Given the description of an element on the screen output the (x, y) to click on. 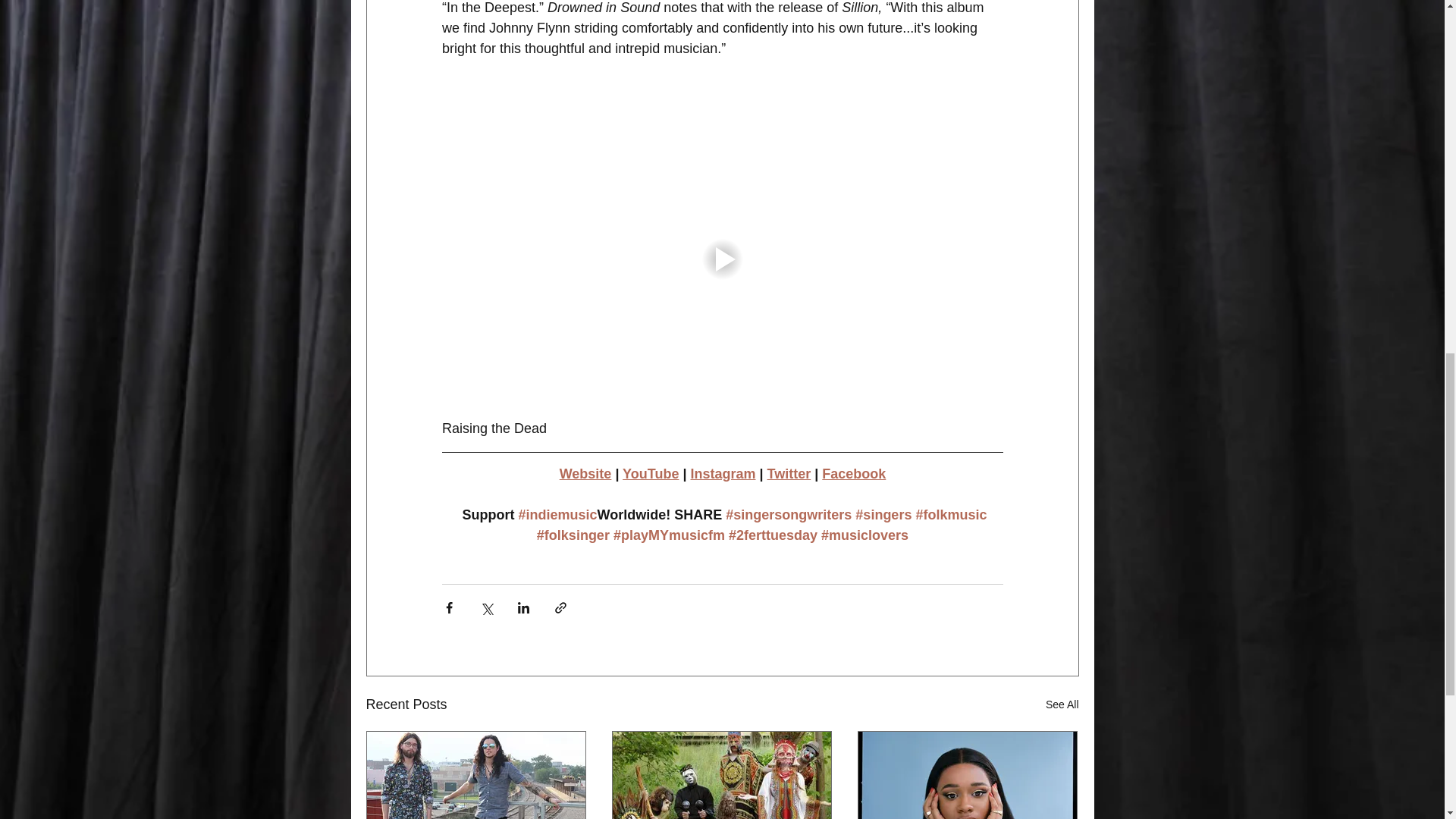
Twitter (788, 473)
Website (585, 473)
Facebook (853, 473)
YouTube (650, 473)
Instagram (722, 473)
